Given the description of an element on the screen output the (x, y) to click on. 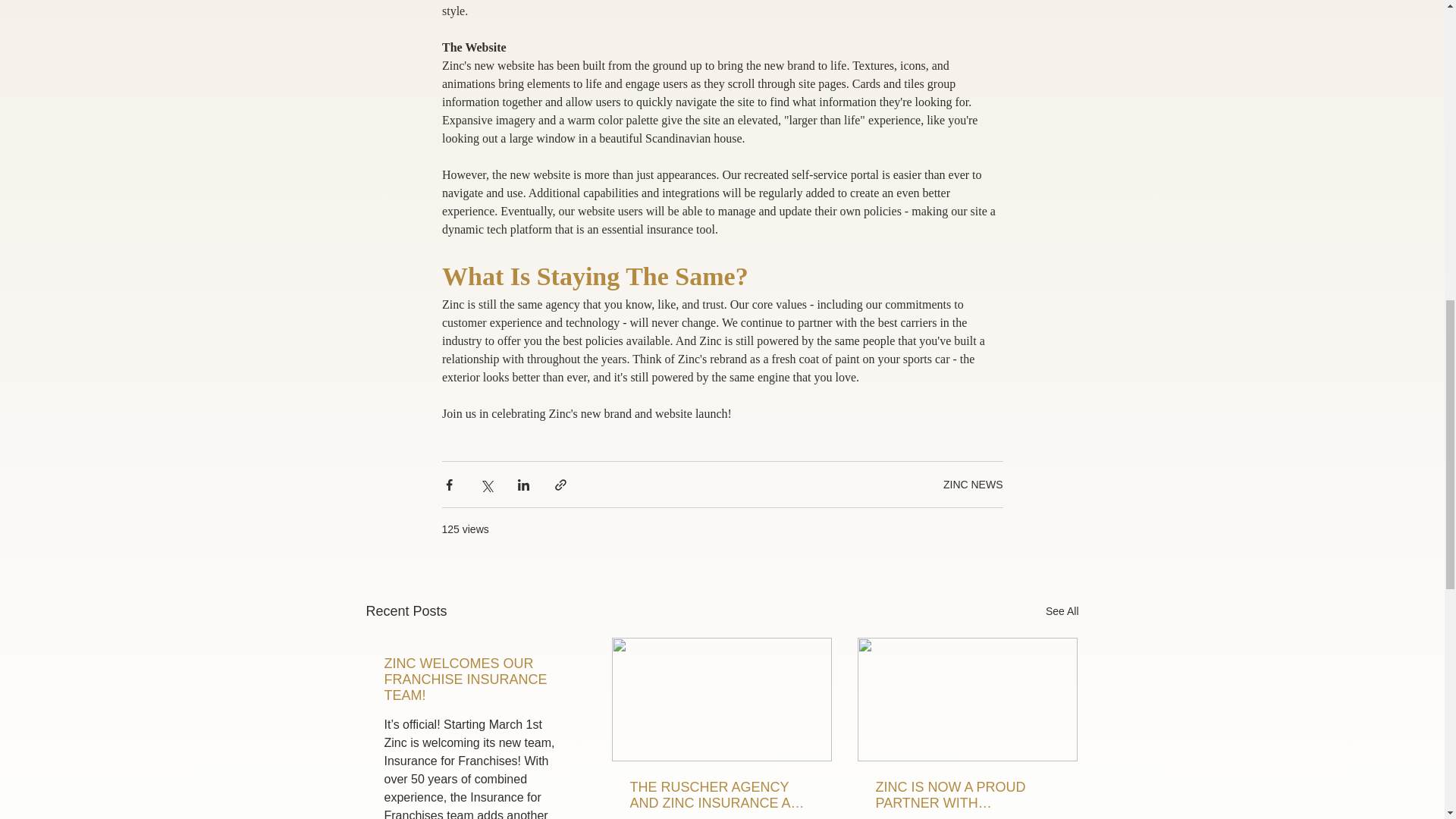
ZINC WELCOMES OUR FRANCHISE INSURANCE TEAM! (475, 679)
ZINC NEWS (973, 483)
THE RUSCHER AGENCY AND ZINC INSURANCE ARE MERGING! (720, 795)
ZINC IS NOW A PROUD PARTNER WITH NATIONWIDE! (966, 795)
See All (1061, 611)
